Given the description of an element on the screen output the (x, y) to click on. 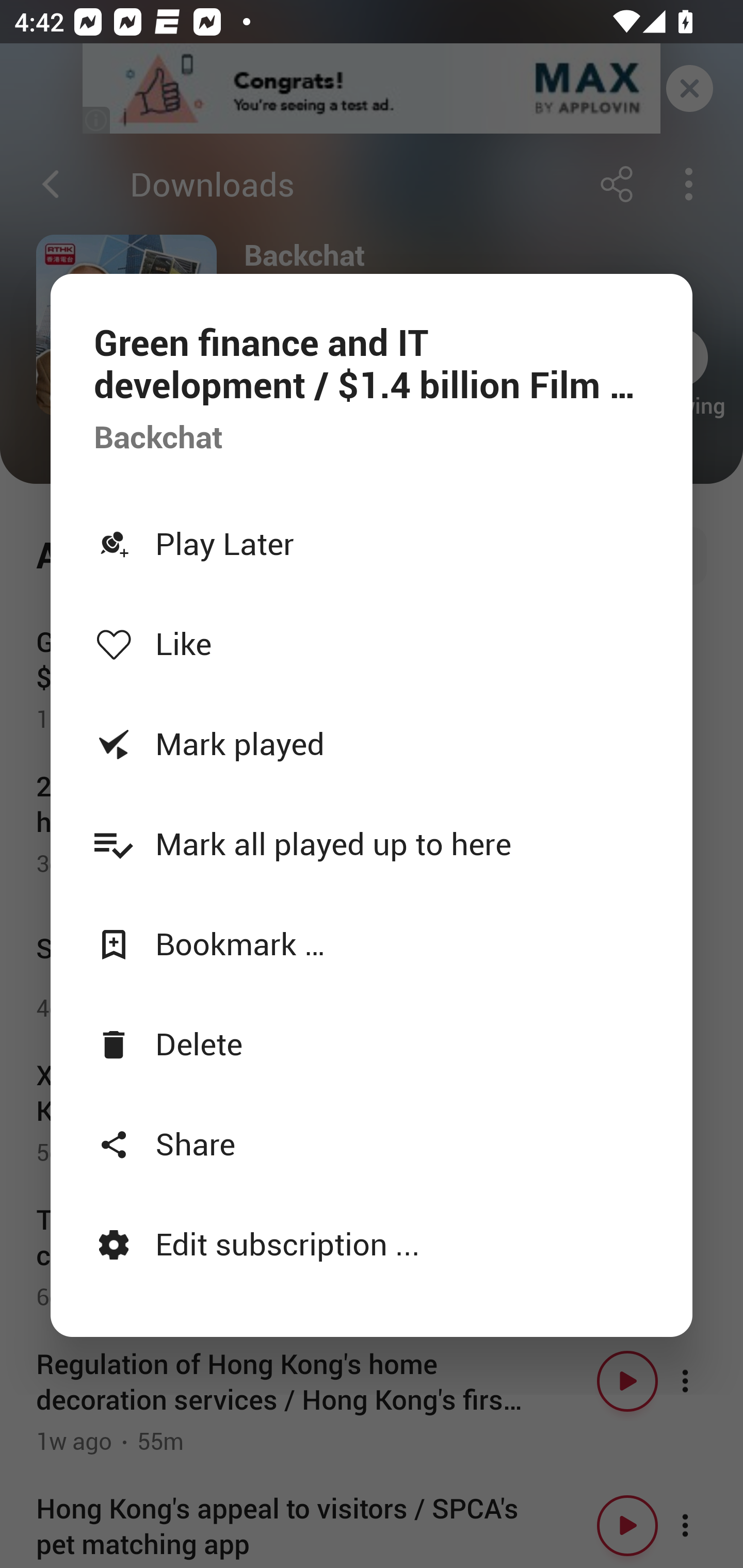
Play Later (371, 542)
Like (371, 642)
Mark played (371, 743)
Mark all played up to here (371, 843)
Bookmark … (371, 943)
Delete (371, 1043)
Share (371, 1142)
Edit subscription ... (371, 1243)
